Given the description of an element on the screen output the (x, y) to click on. 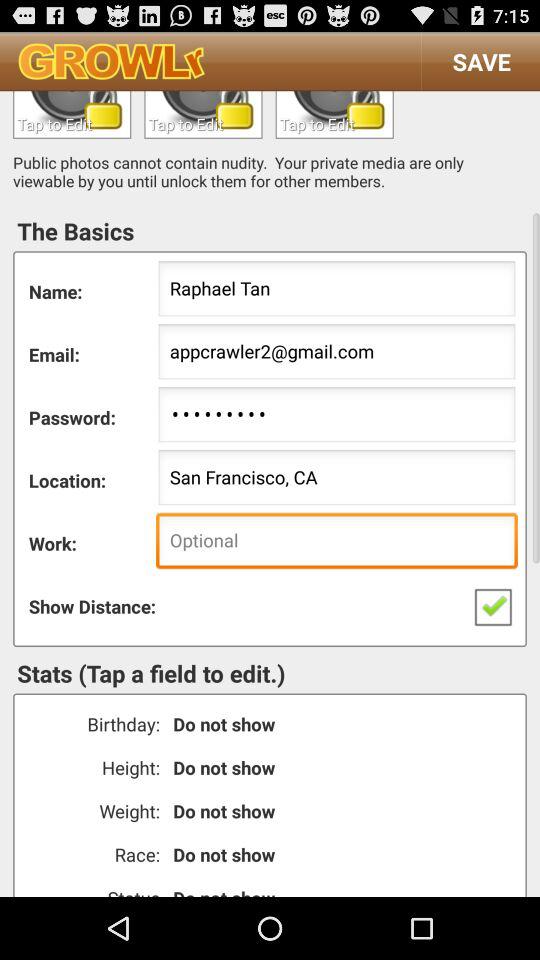
tap to edit (72, 114)
